Given the description of an element on the screen output the (x, y) to click on. 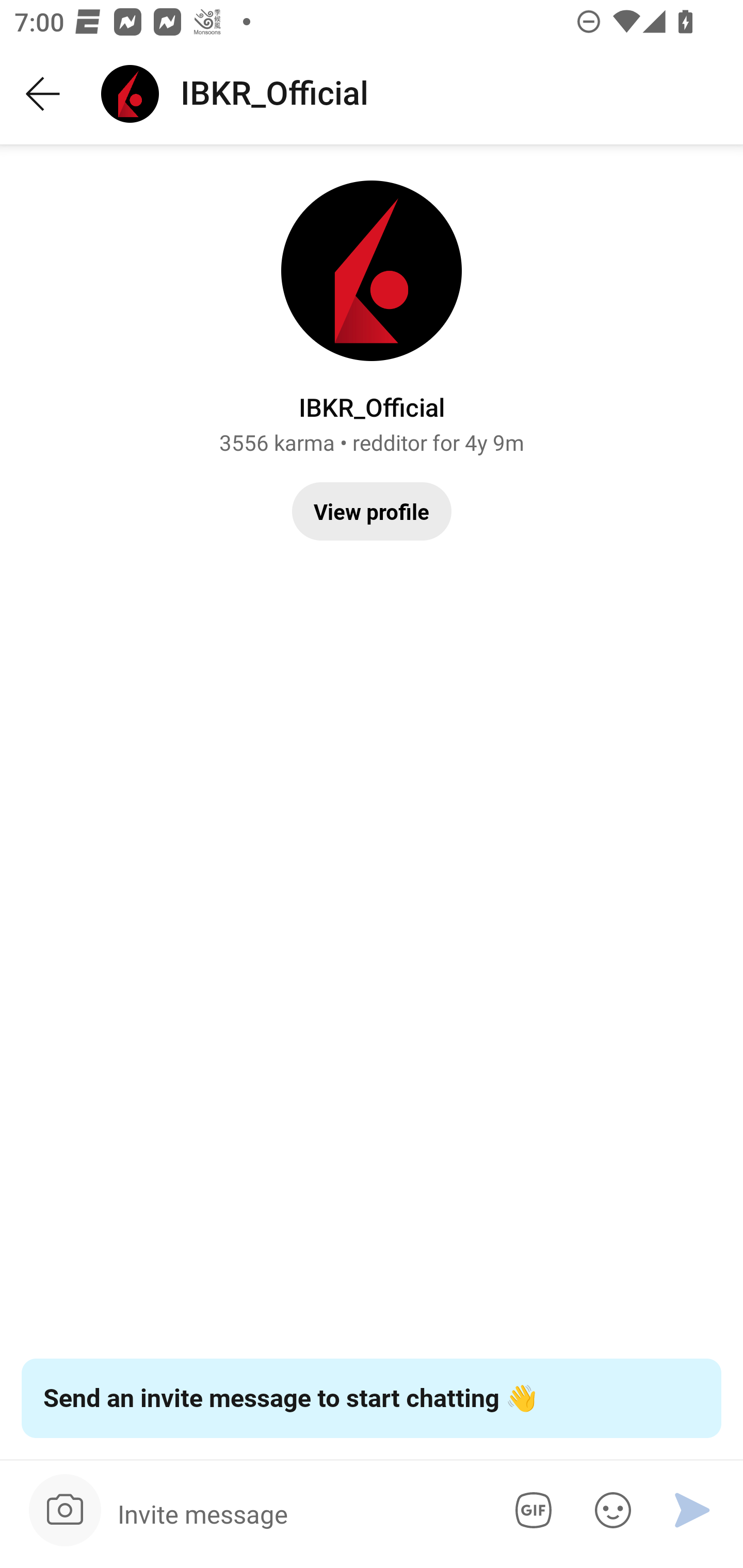
Back (43, 93)
Pin Pinned Posts Caret (371, 503)
Upload image (64, 1510)
Add GIF (529, 1510)
Add sticker (609, 1510)
Send message (692, 1510)
Message Invite message (298, 1513)
